Given the description of an element on the screen output the (x, y) to click on. 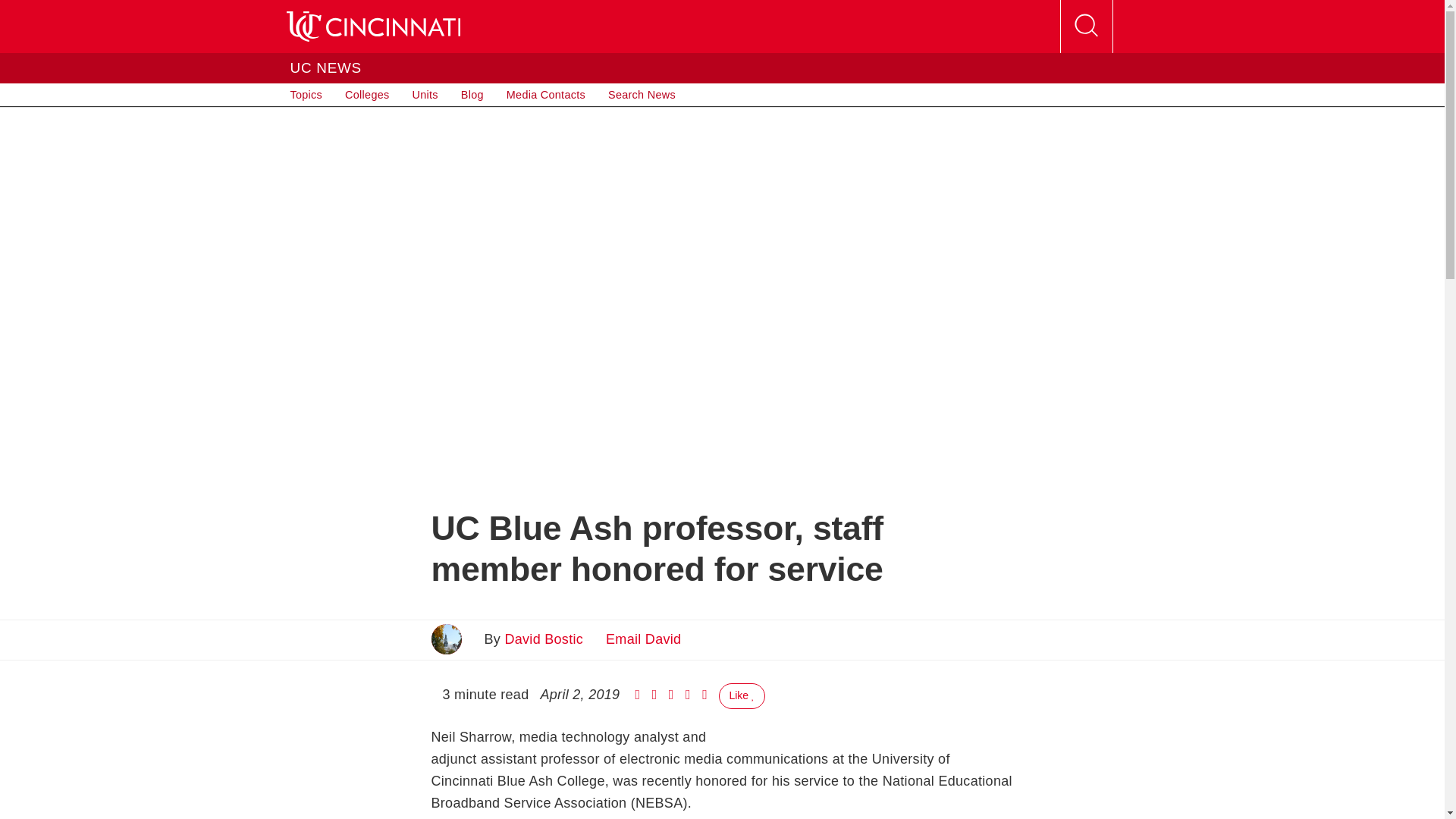
magnifying glass (1086, 26)
Colleges (366, 94)
Topics (306, 94)
UC NEWS (325, 67)
magnifying glass (1085, 25)
